Given the description of an element on the screen output the (x, y) to click on. 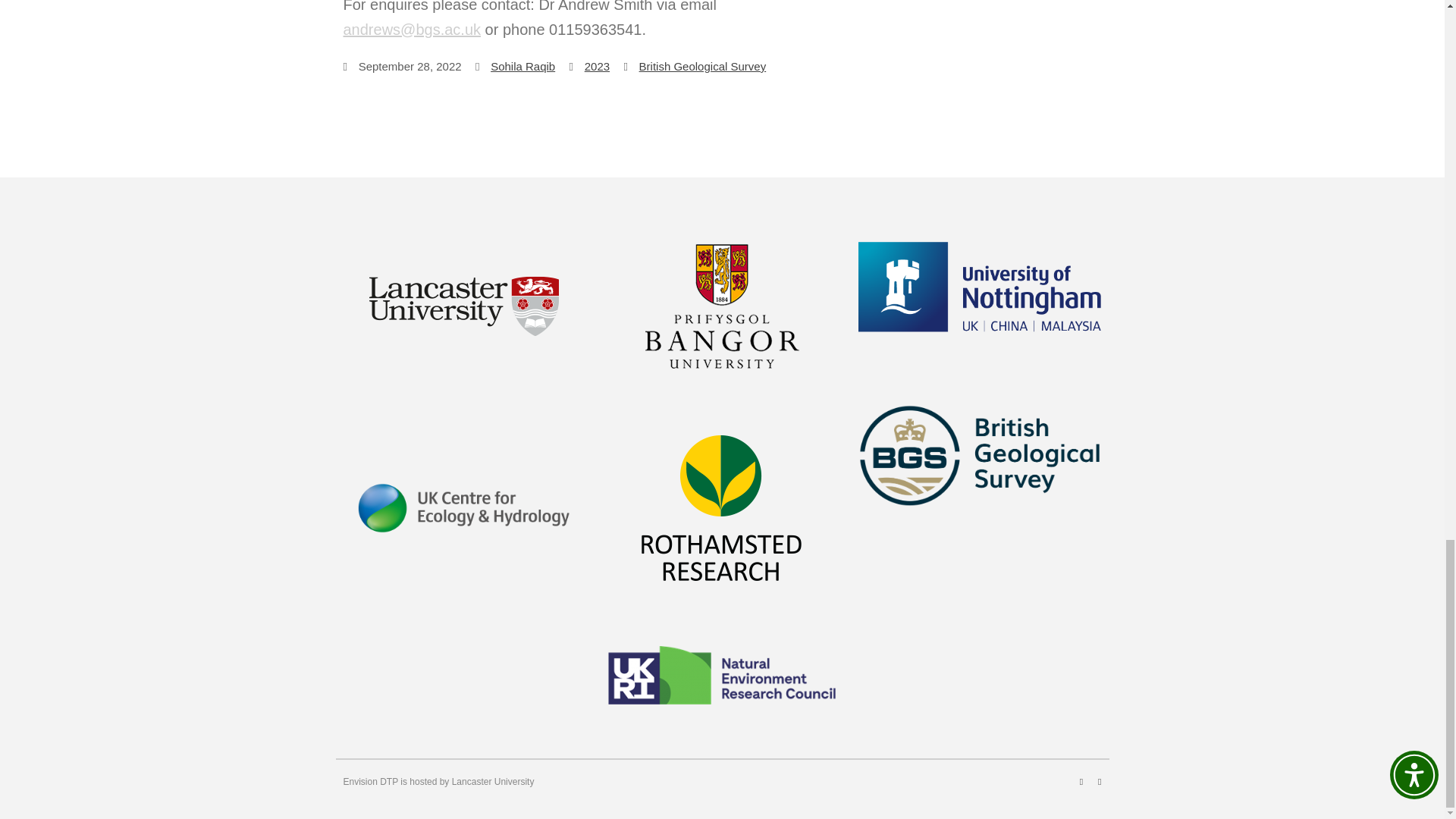
View all posts by Sohila Raqib (522, 65)
View all posts tagged British Geological Survey (703, 65)
View all posts in 2023 (597, 65)
